Given the description of an element on the screen output the (x, y) to click on. 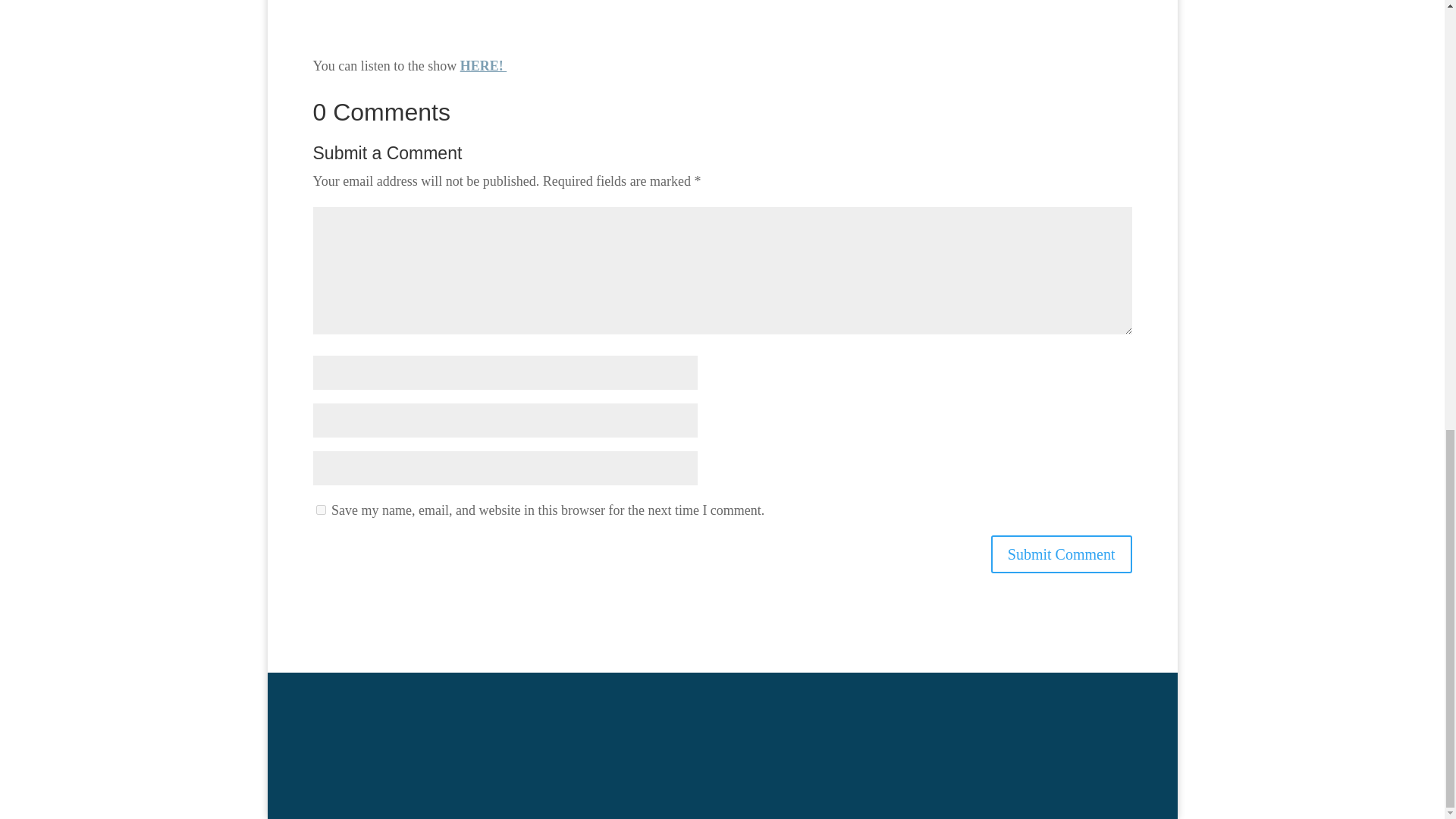
yes (319, 510)
